Given the description of an element on the screen output the (x, y) to click on. 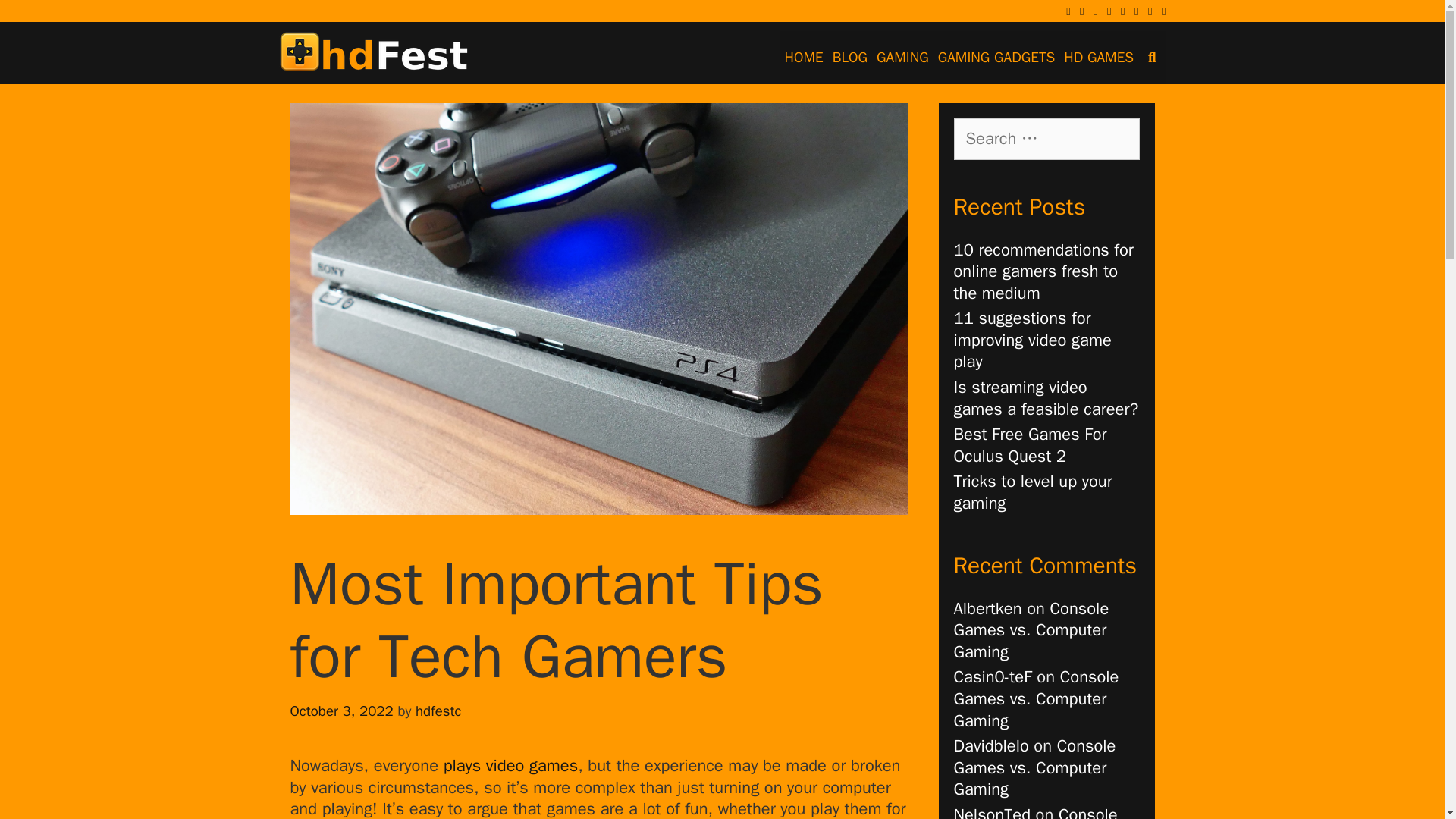
Console Games vs. Computer Gaming (1034, 767)
hdfestc (437, 710)
Best Free Games For Oculus Quest 2 (1029, 445)
1:05 pm (341, 710)
11 suggestions for improving video game play (1032, 339)
Albertken (987, 608)
October 3, 2022 (341, 710)
Davidblelo (991, 745)
View all posts by hdfestc (437, 710)
Search for: (1046, 138)
plays video games (511, 765)
Console Games vs. Computer Gaming (1035, 811)
Casin0-teF (992, 676)
HD Fest (373, 50)
Search (37, 19)
